Given the description of an element on the screen output the (x, y) to click on. 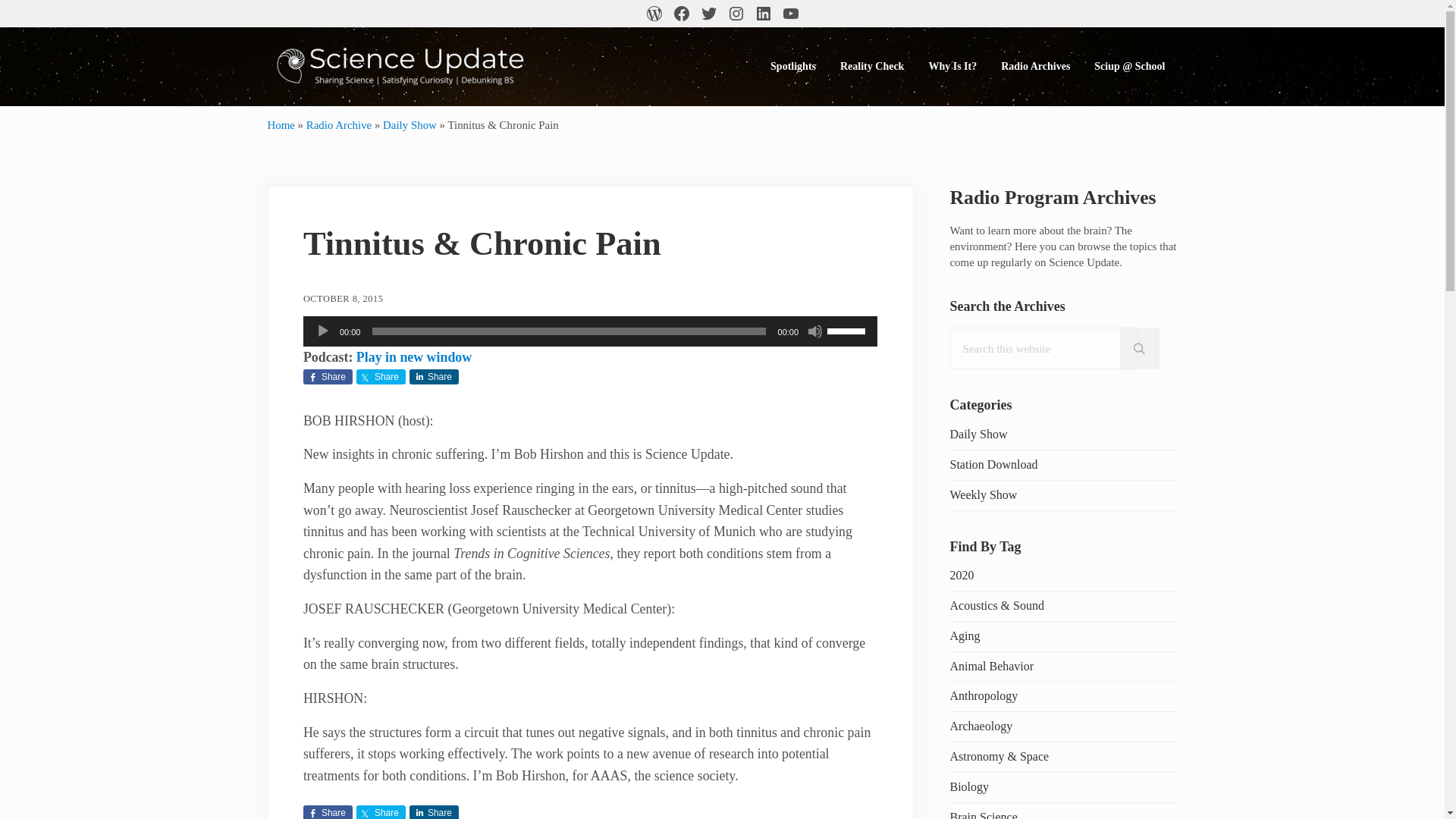
Twitter (708, 13)
Why Is It? (951, 66)
Radio Archive (338, 124)
Radio Archives (1034, 66)
Spotlights (793, 66)
Home (280, 124)
YouTube (789, 13)
Share (381, 812)
Share (433, 376)
Daily Show (409, 124)
WordPress (653, 13)
Mute (815, 331)
Share (327, 812)
Play in new window (413, 356)
